Given the description of an element on the screen output the (x, y) to click on. 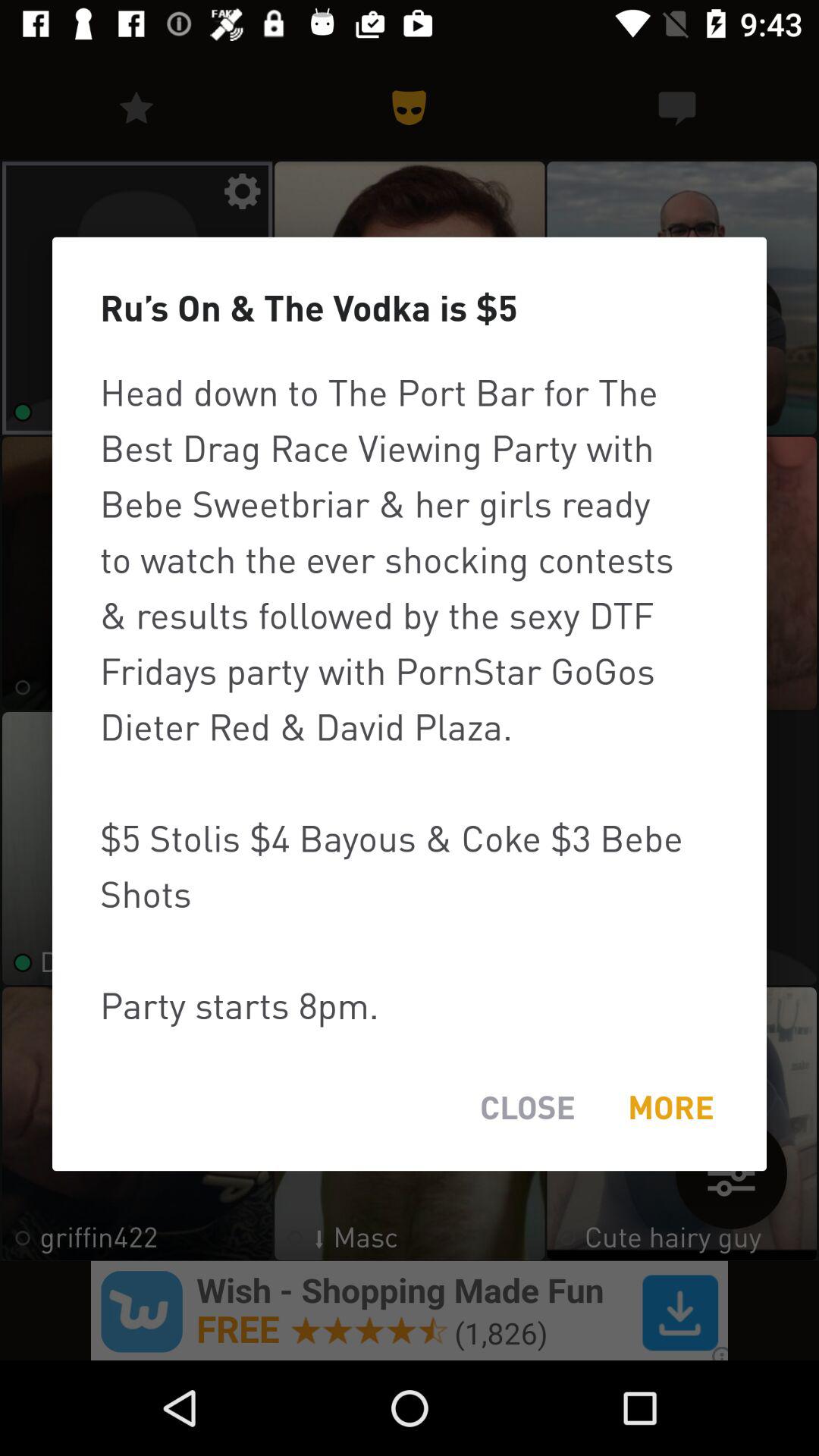
flip until close icon (527, 1107)
